Given the description of an element on the screen output the (x, y) to click on. 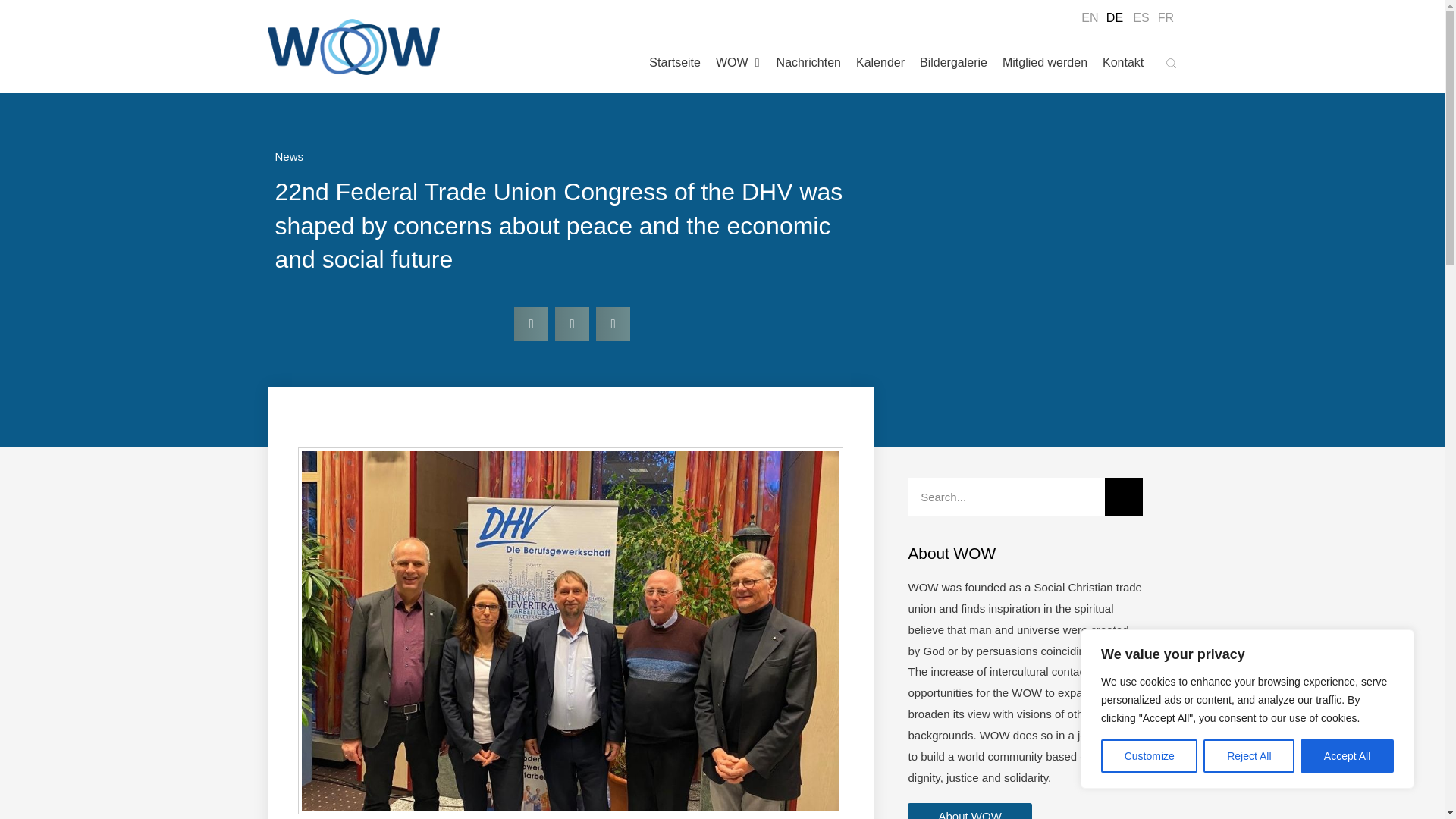
Reject All (1249, 756)
Accept All (1346, 756)
Startseite (674, 62)
Customize (1148, 756)
